Given the description of an element on the screen output the (x, y) to click on. 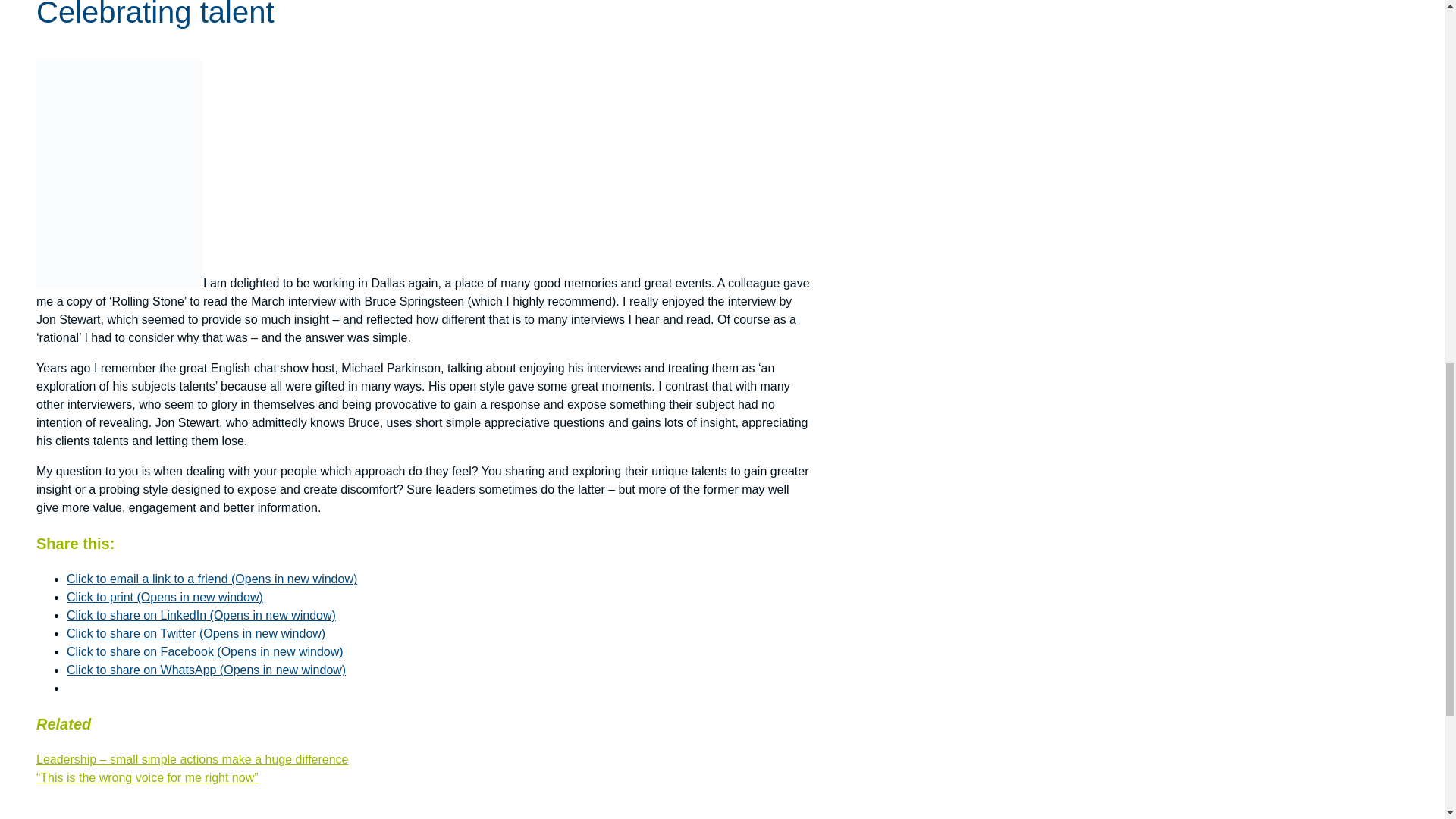
Click to share on LinkedIn (201, 615)
Click to email a link to a friend (211, 578)
Click to share on Facebook (204, 651)
Click to share on WhatsApp (206, 669)
Click to print (164, 596)
Click to share on Twitter (195, 633)
